Given the description of an element on the screen output the (x, y) to click on. 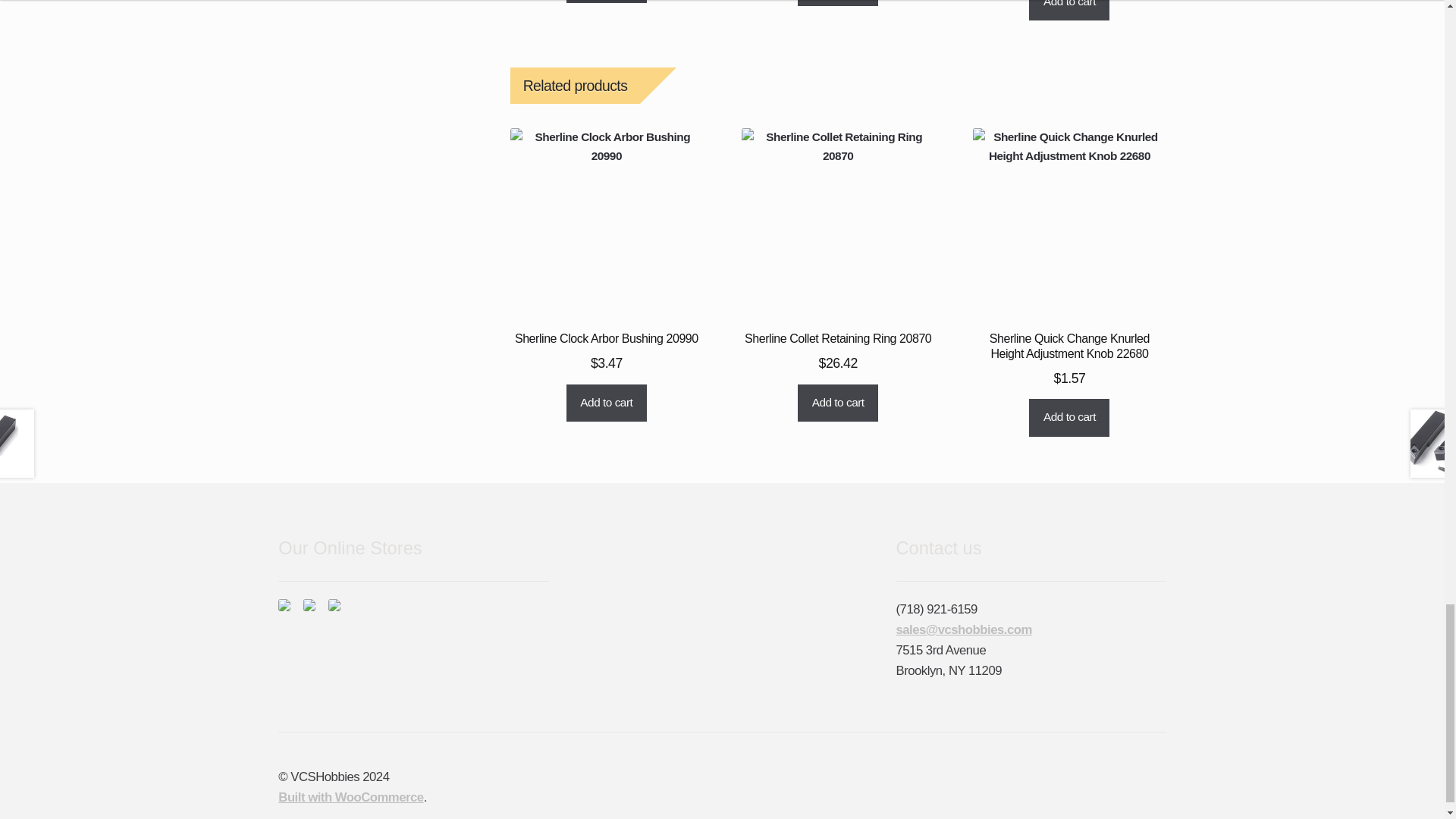
Sherline Collet Retaining Ring 20870 - VCSHobbies (837, 224)
Sherline Clock Arbor Bushing 20990 - VCSHobbies (607, 224)
